Given the description of an element on the screen output the (x, y) to click on. 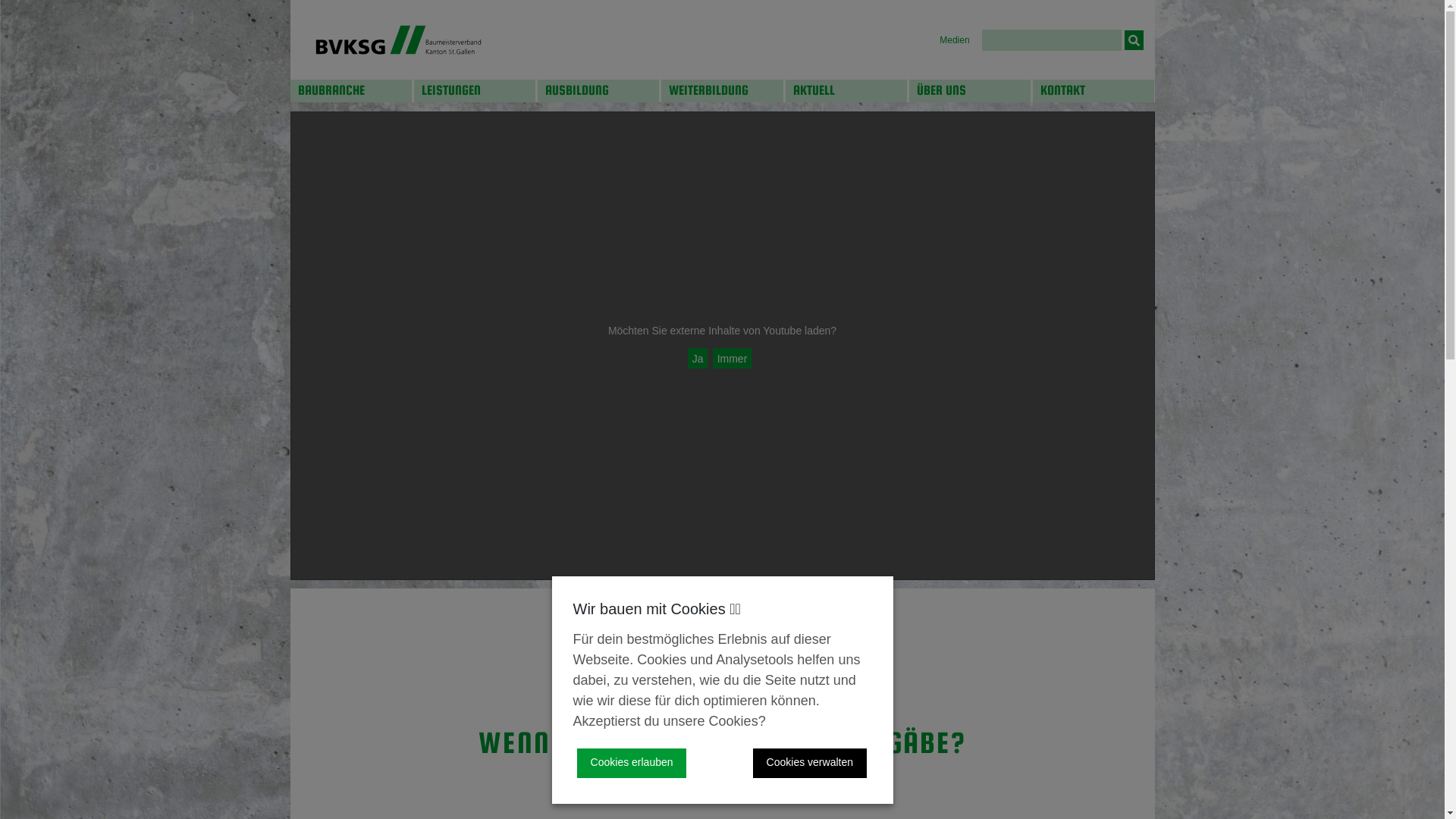
BVKSG Element type: hover (397, 39)
BAUBRANCHE Element type: text (350, 90)
Medien Element type: text (954, 39)
Ja Element type: text (697, 358)
AUSBILDUNG Element type: text (597, 90)
Immer Element type: text (731, 358)
KONTAKT Element type: text (1093, 90)
Cookies verwalten Element type: text (809, 763)
LEISTUNGEN Element type: text (474, 90)
Cookies erlauben Element type: text (631, 763)
WEITERBILDUNG Element type: text (721, 90)
AKTUELL Element type: text (845, 90)
